Given the description of an element on the screen output the (x, y) to click on. 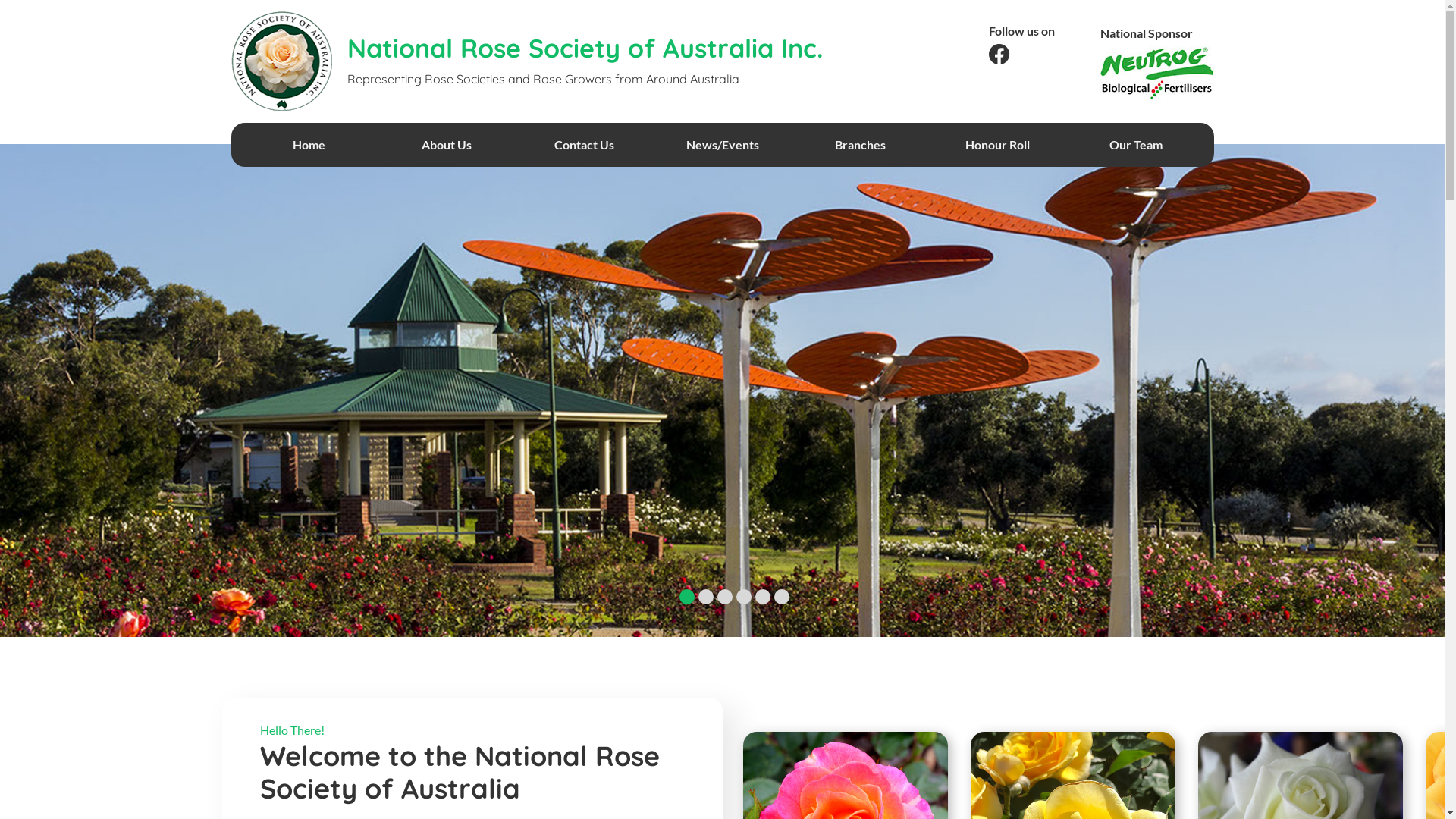
Our Team Element type: text (1135, 144)
Contact Us Element type: text (584, 144)
About Us Element type: text (446, 144)
Branches Element type: text (859, 144)
Home Element type: text (308, 144)
News/Events Element type: text (722, 144)
Honour Roll Element type: text (997, 144)
